Given the description of an element on the screen output the (x, y) to click on. 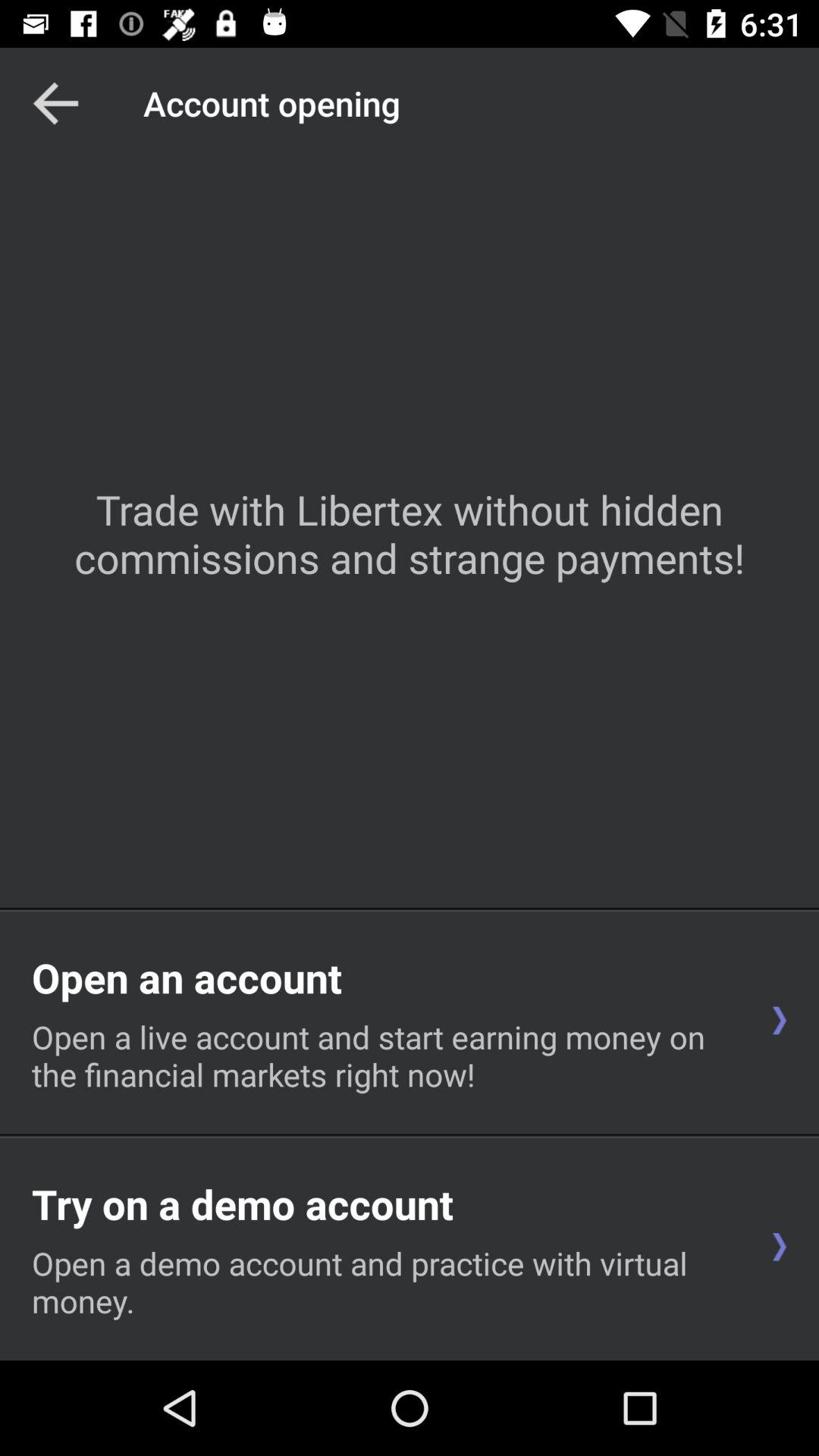
back toggle (55, 103)
